Given the description of an element on the screen output the (x, y) to click on. 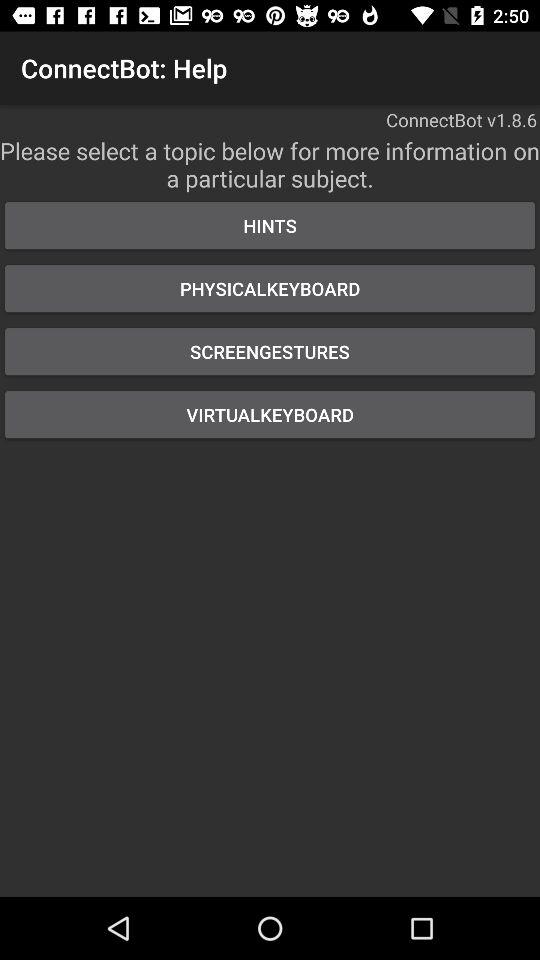
tap the virtualkeyboard item (270, 414)
